Given the description of an element on the screen output the (x, y) to click on. 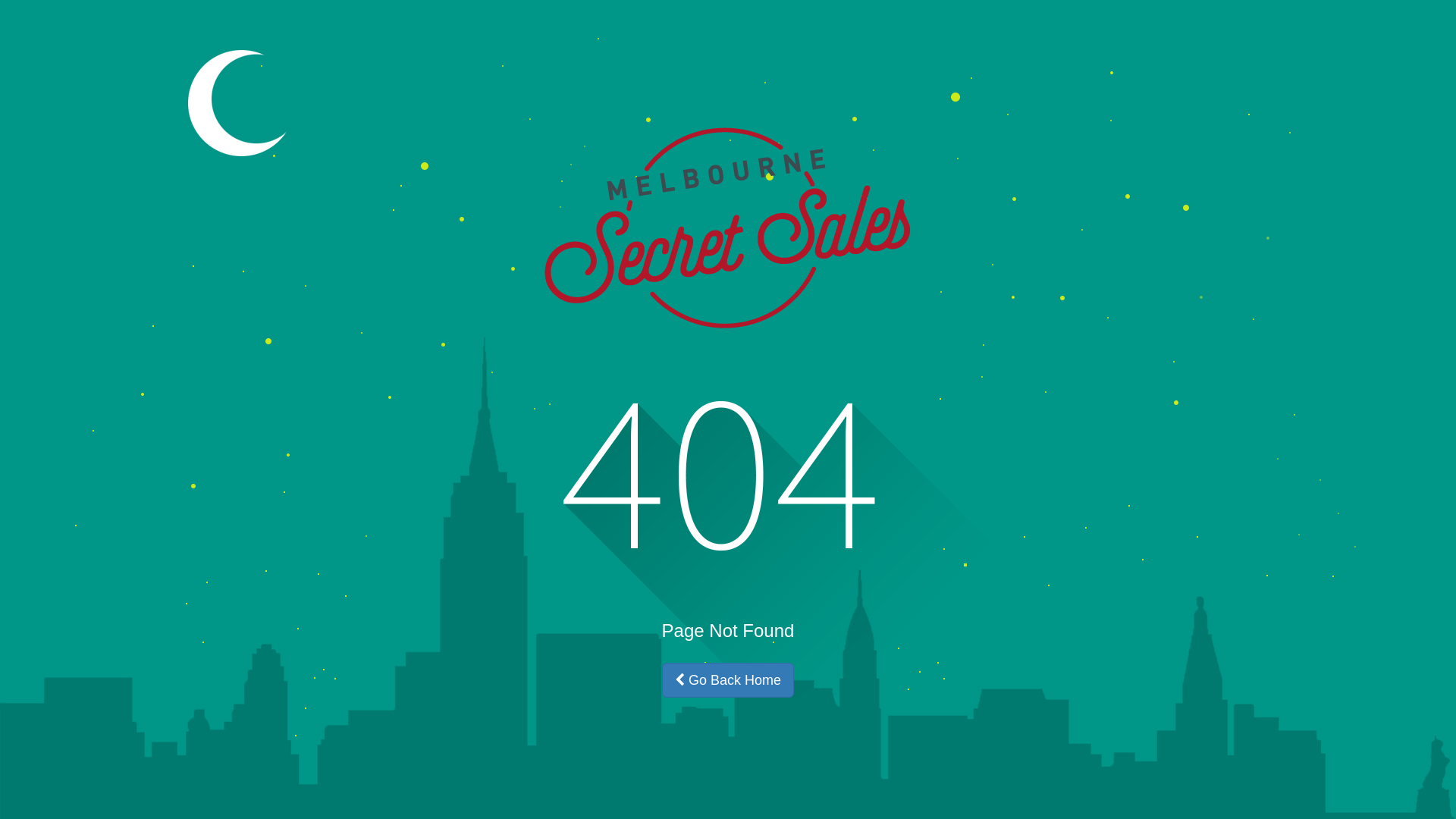
Go Back Home Element type: text (727, 679)
